Given the description of an element on the screen output the (x, y) to click on. 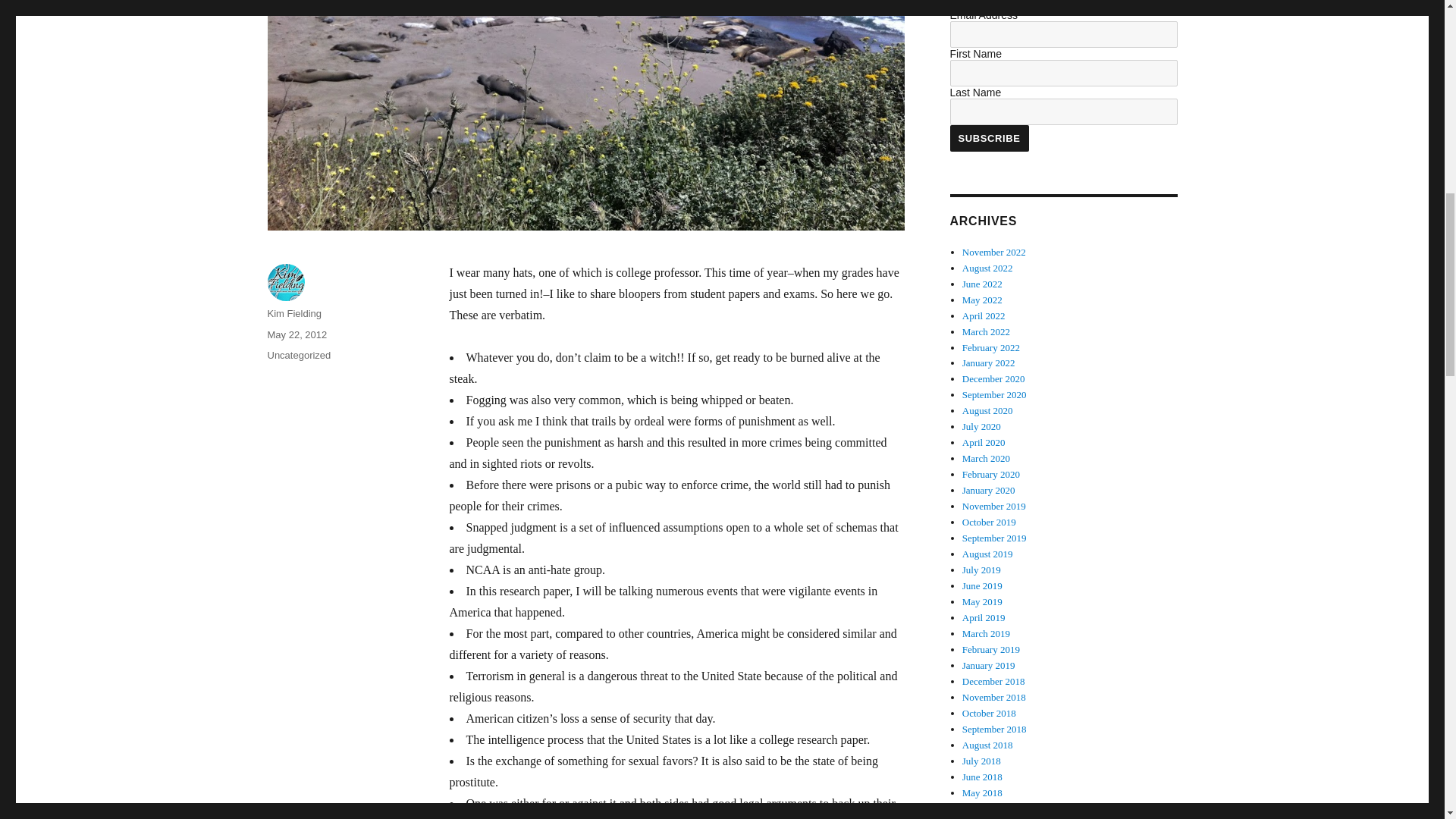
Subscribe (988, 138)
Kim Fielding (293, 313)
Uncategorized (298, 355)
May 22, 2012 (296, 334)
